Given the description of an element on the screen output the (x, y) to click on. 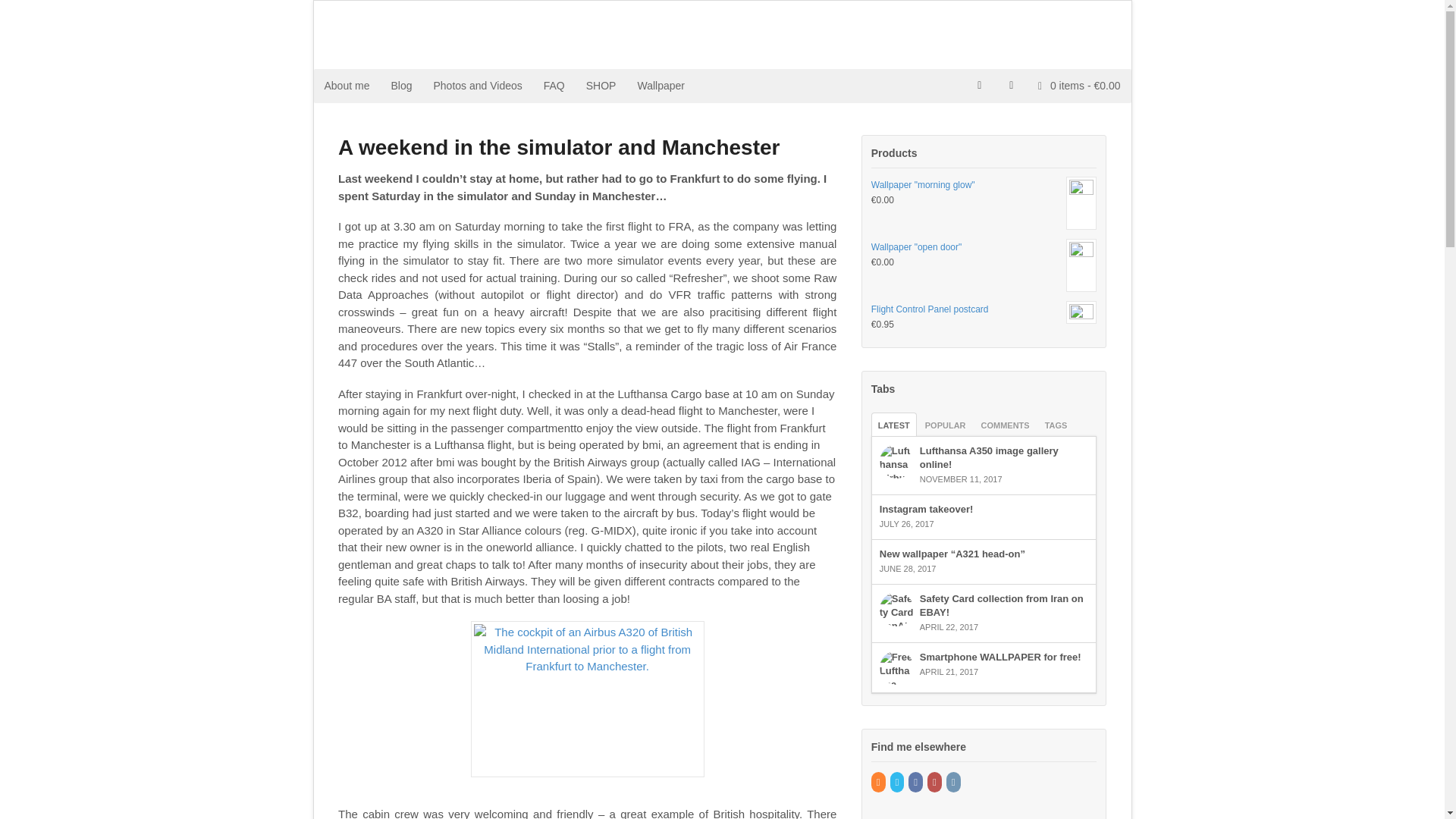
Blog (401, 85)
Photos and Videos (477, 85)
FAQ (553, 85)
BMI - Airbus A320 - G-MIDX in Frankfurt - Cockpit (587, 698)
About me (347, 85)
SHOP (601, 85)
Smartphone wallpaper (660, 85)
Wallpaper (660, 85)
View your shopping cart (1079, 84)
